Given the description of an element on the screen output the (x, y) to click on. 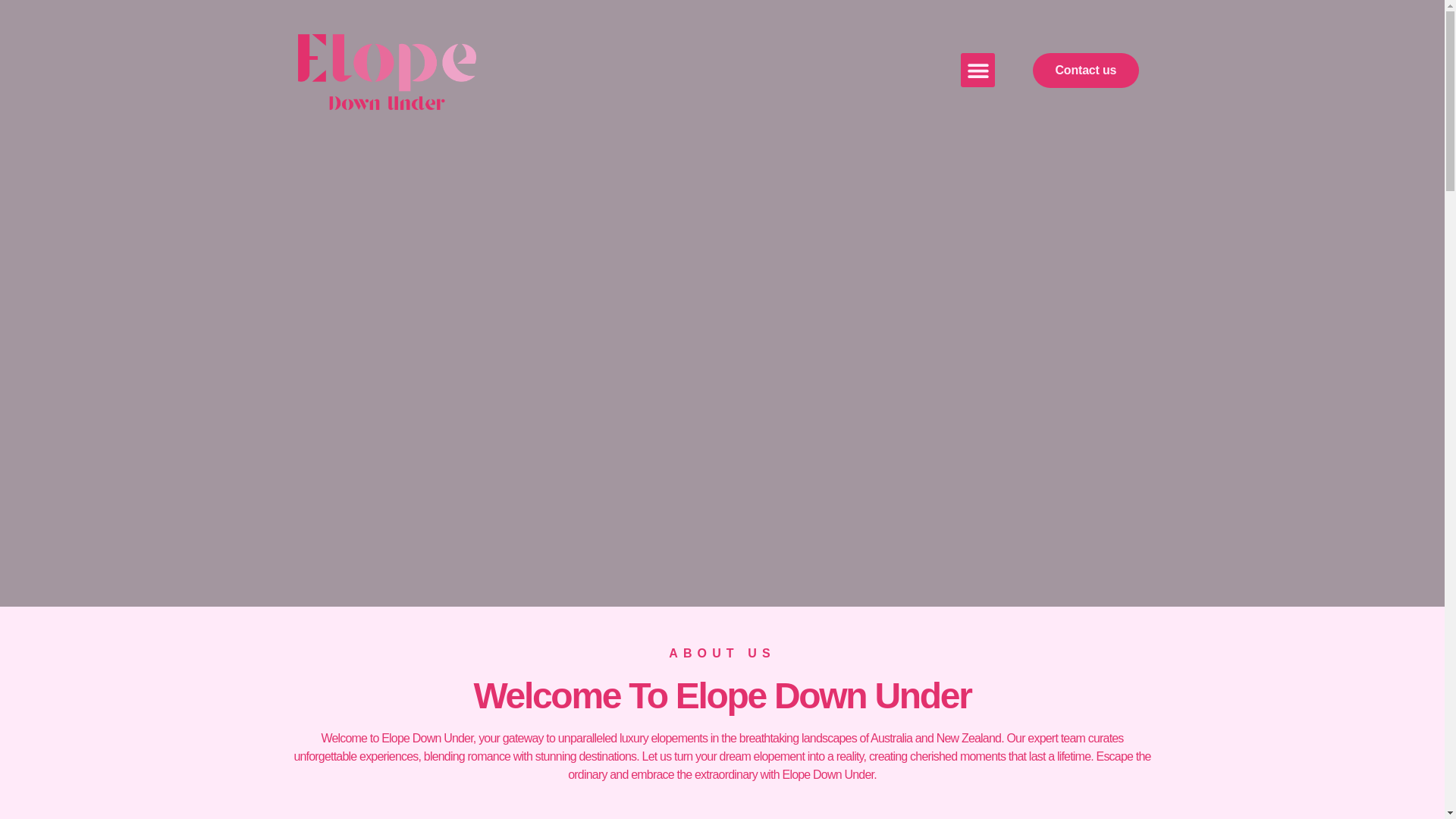
Contact us (1086, 70)
